Given the description of an element on the screen output the (x, y) to click on. 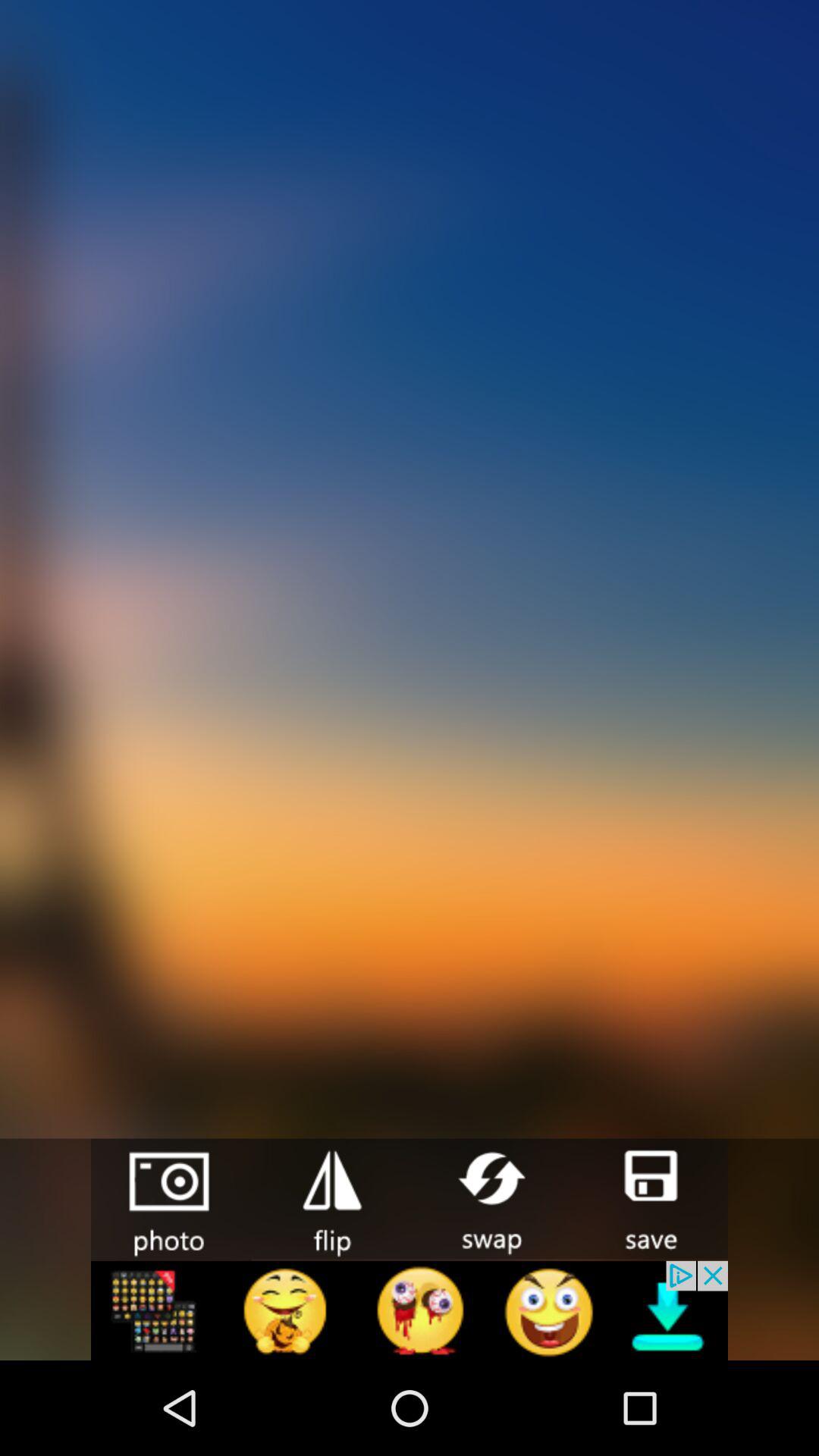
flip button (330, 1198)
